Given the description of an element on the screen output the (x, y) to click on. 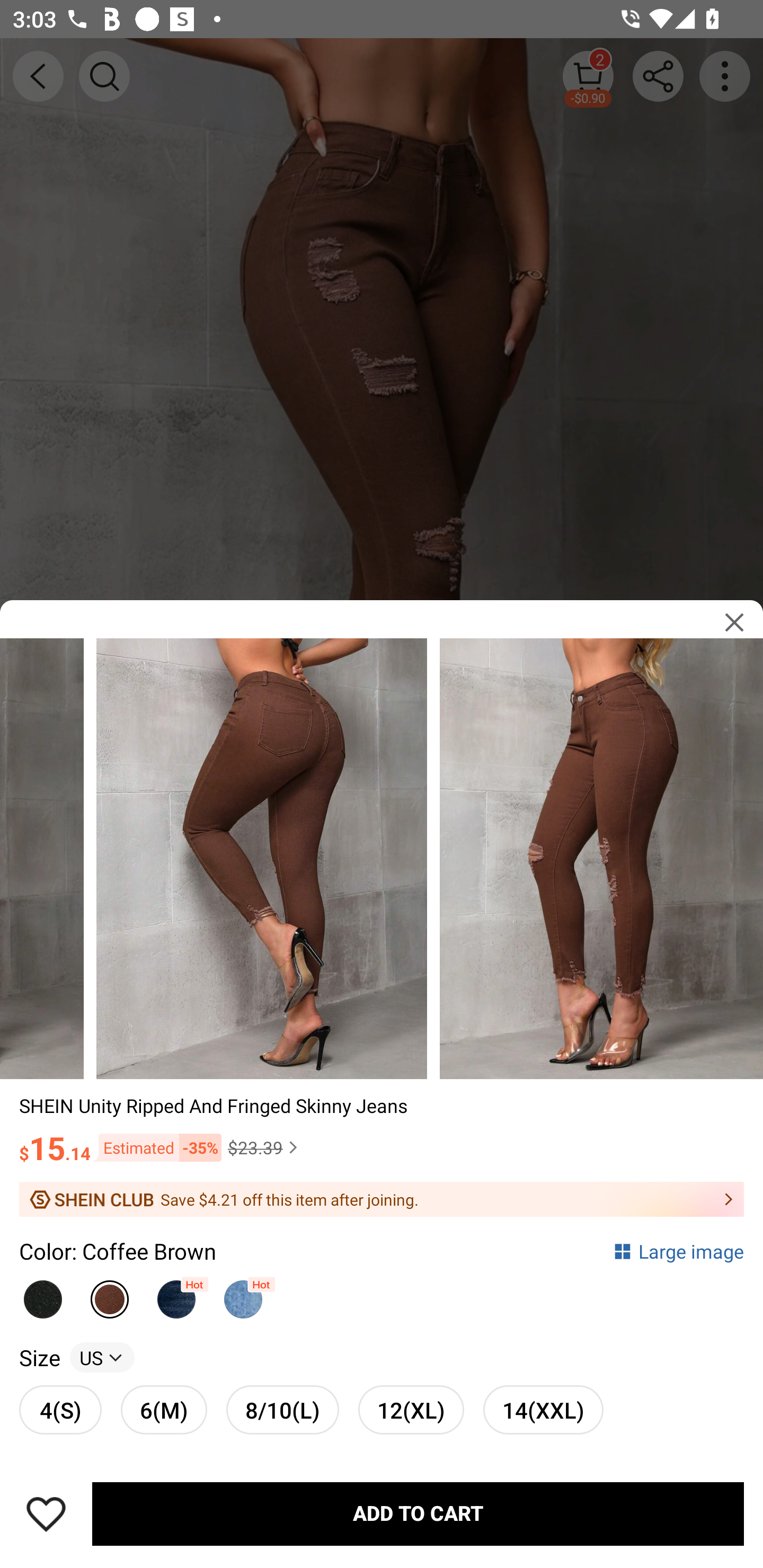
Estimated -35% (155, 1147)
$23.39 (265, 1146)
Save $4.21 off this item after joining. (381, 1199)
Color: Coffee Brown (117, 1250)
Large image (677, 1250)
Black (42, 1294)
Coffee Brown (109, 1294)
Dark Wash (176, 1294)
Light Wash (242, 1294)
Size (39, 1357)
US (102, 1357)
4(S) 4(S)unselected option (60, 1409)
6(M) 6(M)unselected option (163, 1409)
8/10(L) 8/10(L)unselected option (282, 1409)
12(XL) 12(XL)unselected option (410, 1409)
14(XXL) 14(XXL)unselected option (542, 1409)
ADD TO CART (417, 1513)
Save (46, 1513)
